Given the description of an element on the screen output the (x, y) to click on. 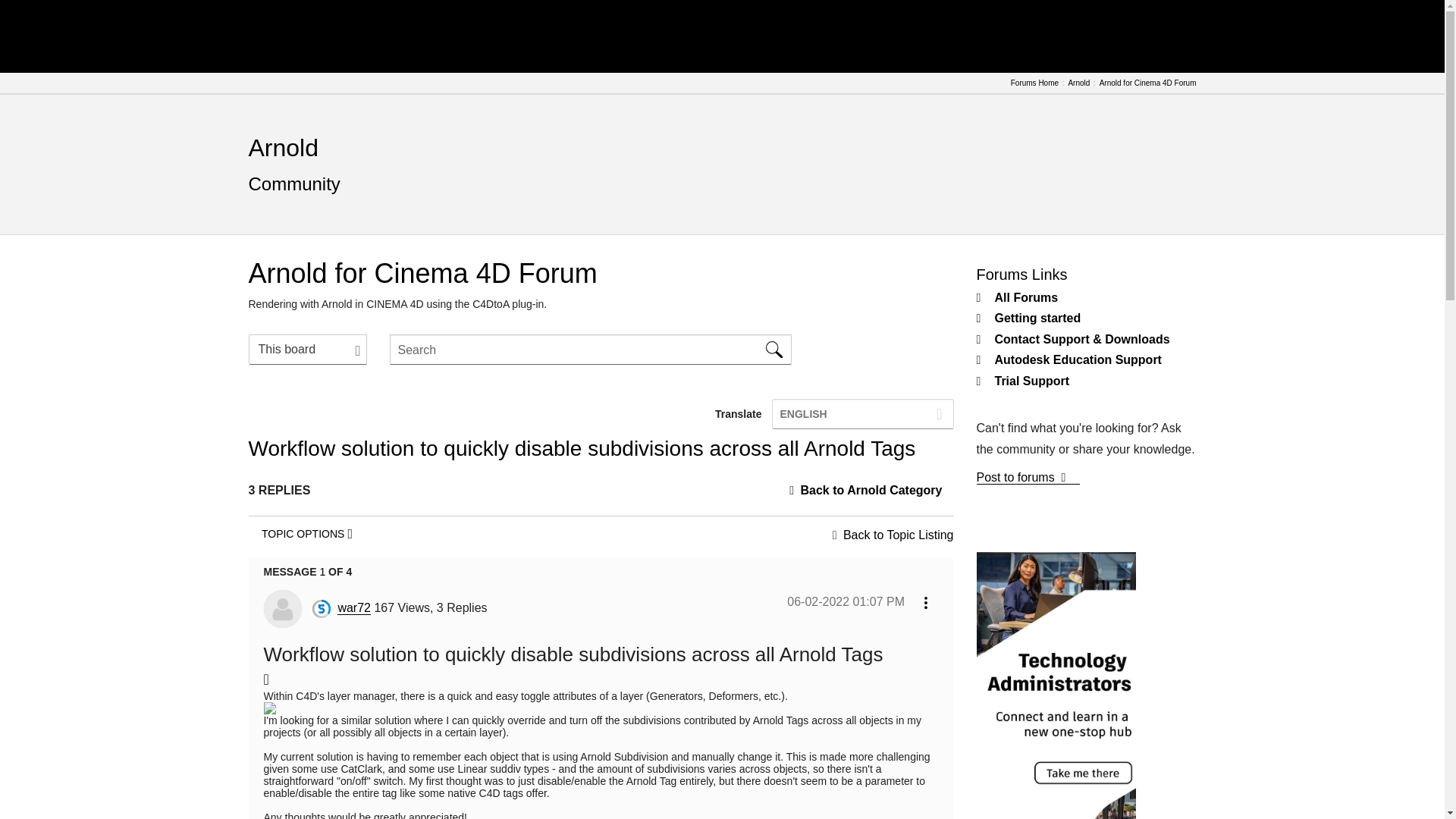
TOPIC OPTIONS (306, 533)
Arnold for Cinema 4D Forum (1147, 82)
Participant (321, 608)
Search (591, 349)
Search (774, 349)
Forums Home (1034, 82)
Arnold (283, 147)
Back to Topic Listing (898, 534)
Show option menu (306, 533)
Search (774, 349)
